Given the description of an element on the screen output the (x, y) to click on. 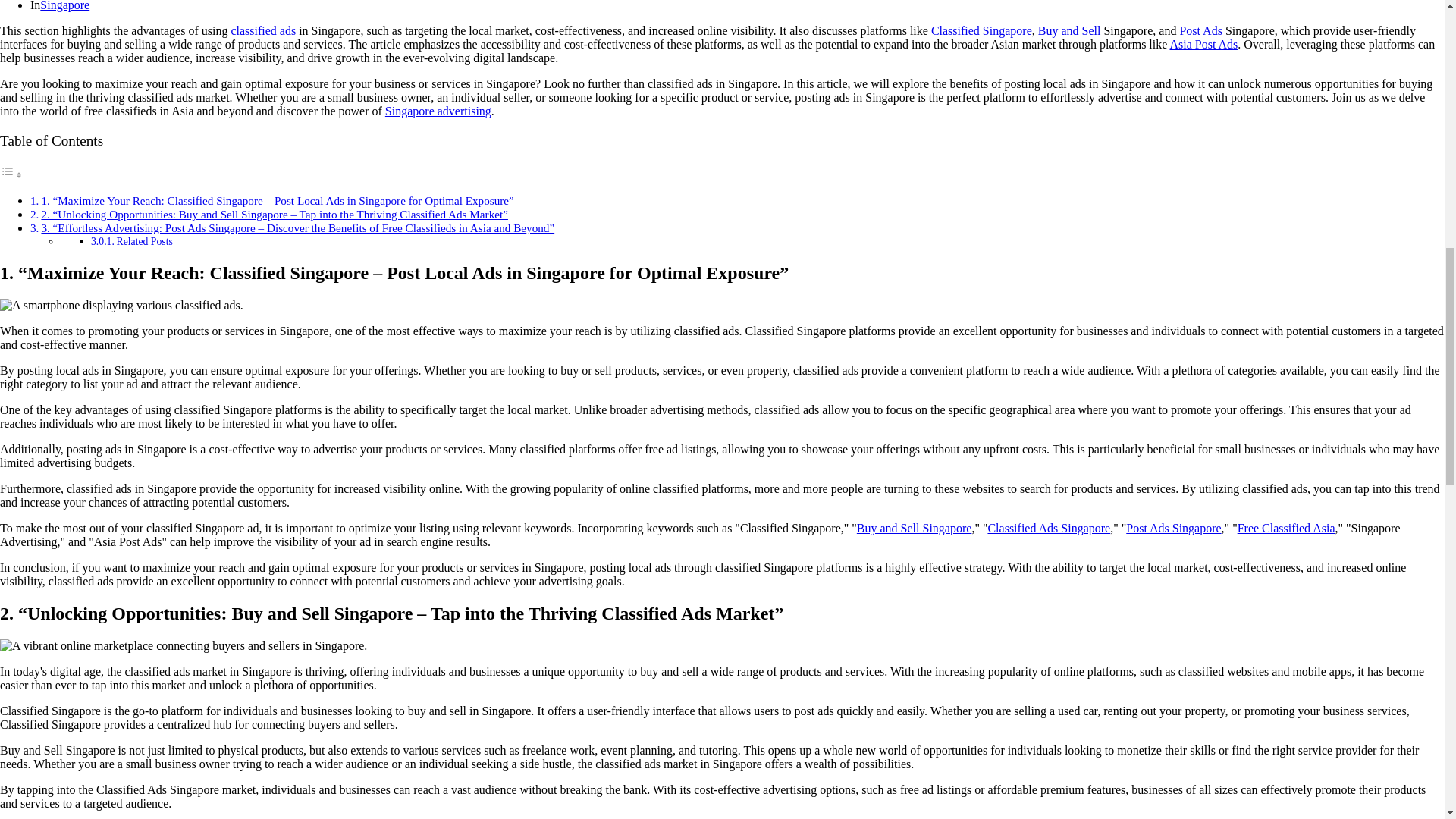
Posts tagged with Classified Ads (262, 30)
Posts tagged with Buy and Sell (1069, 30)
Posts tagged with Buy and Sell Singapore (914, 527)
Posts tagged with Classified Singapore (981, 30)
Posts tagged with Post Ads (1200, 30)
Posts tagged with Asia Post Ads (1203, 43)
Related Posts (144, 241)
Posts tagged with Singapore Advertising (438, 110)
